Given the description of an element on the screen output the (x, y) to click on. 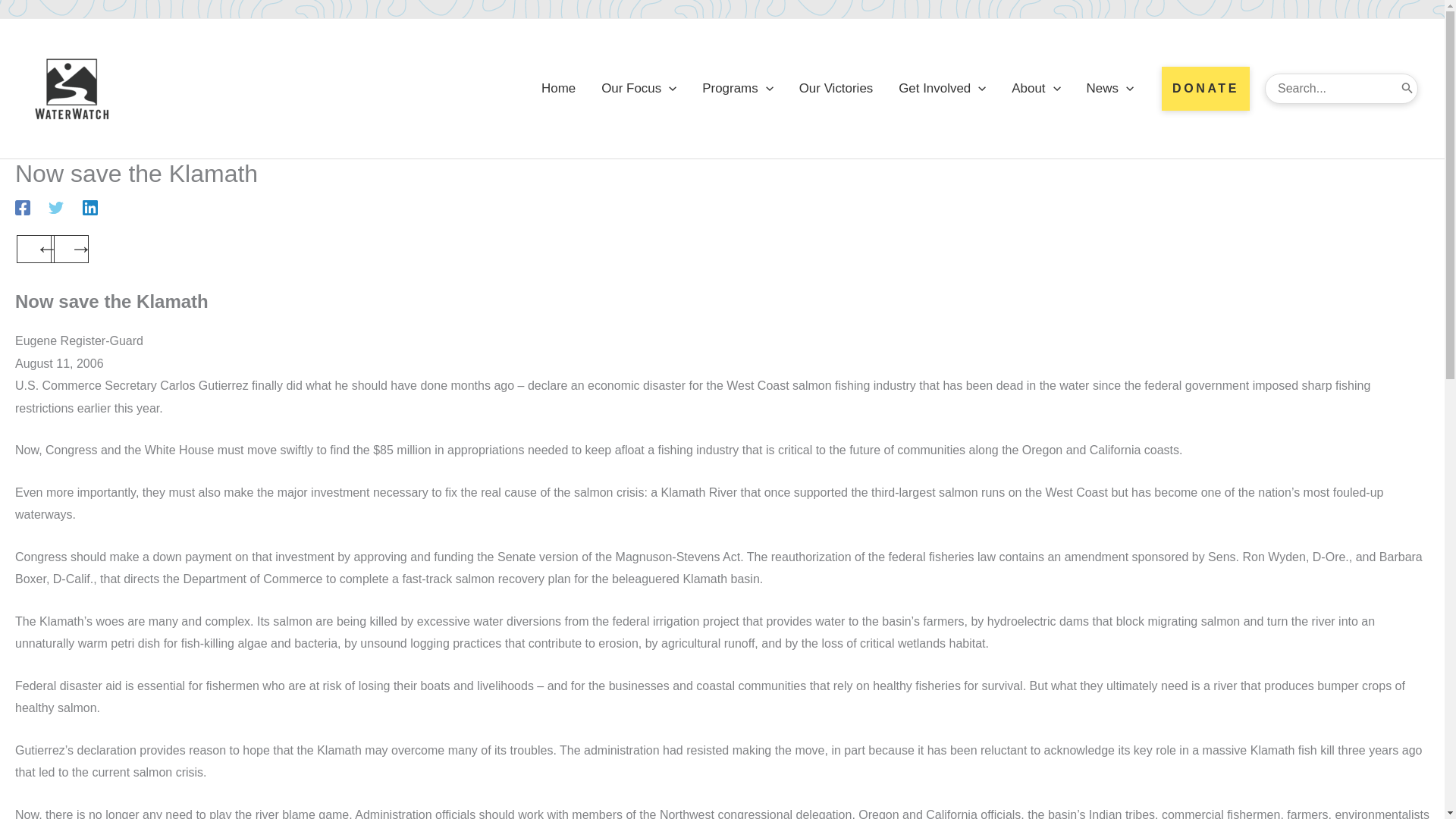
Hydro Hogs (69, 248)
Our Victories (835, 88)
Our Focus (638, 88)
Programs (737, 88)
Home (558, 88)
Get Involved (941, 88)
About (1035, 88)
